Given the description of an element on the screen output the (x, y) to click on. 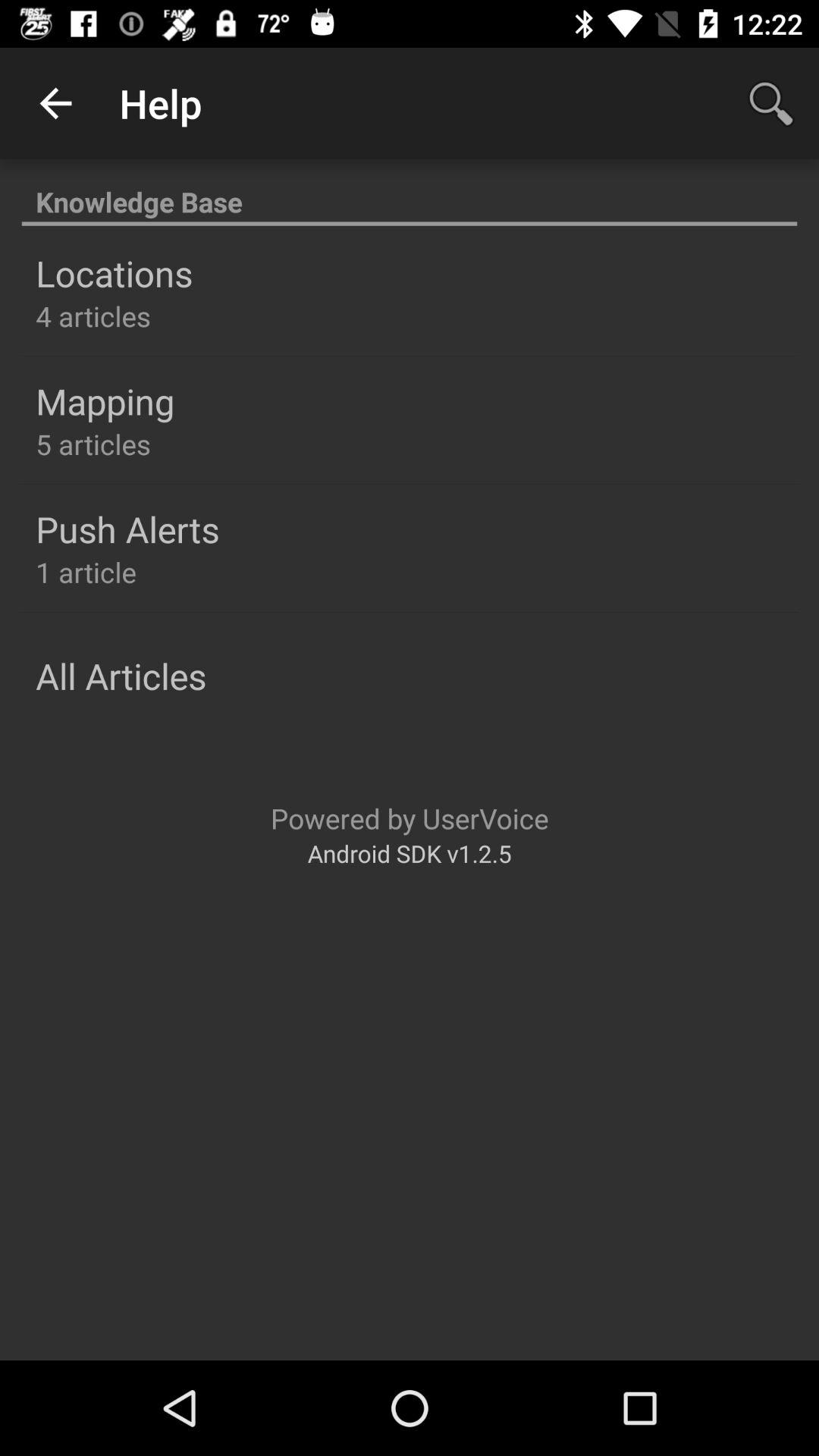
flip to android sdk v1 (409, 853)
